Given the description of an element on the screen output the (x, y) to click on. 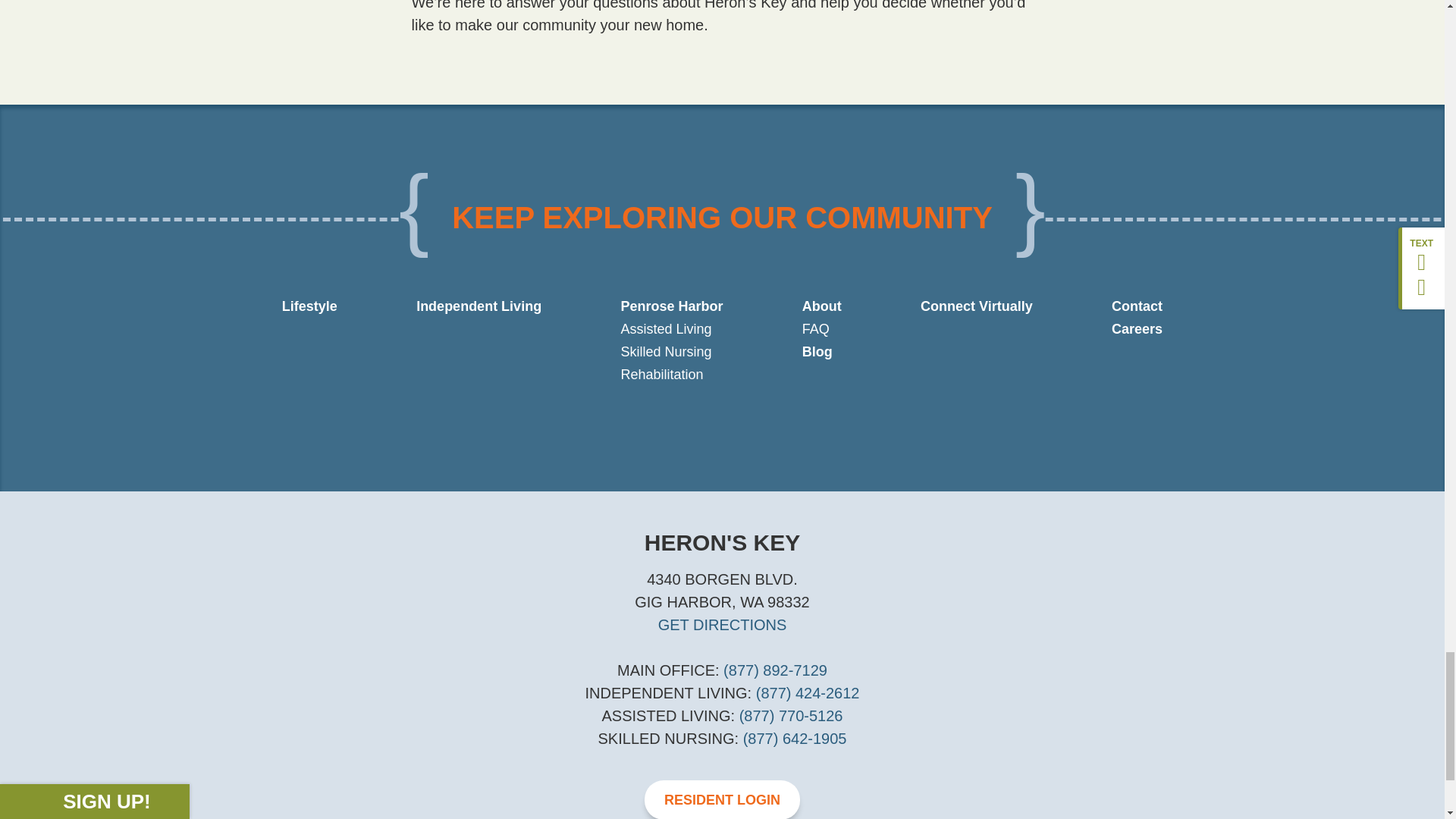
About (821, 306)
Assisted Living (665, 328)
Skilled Nursing (665, 351)
FAQ (815, 328)
Penrose Harbor (671, 306)
Lifestyle (309, 306)
Rehabilitation (661, 374)
Independent Living (478, 306)
